Given the description of an element on the screen output the (x, y) to click on. 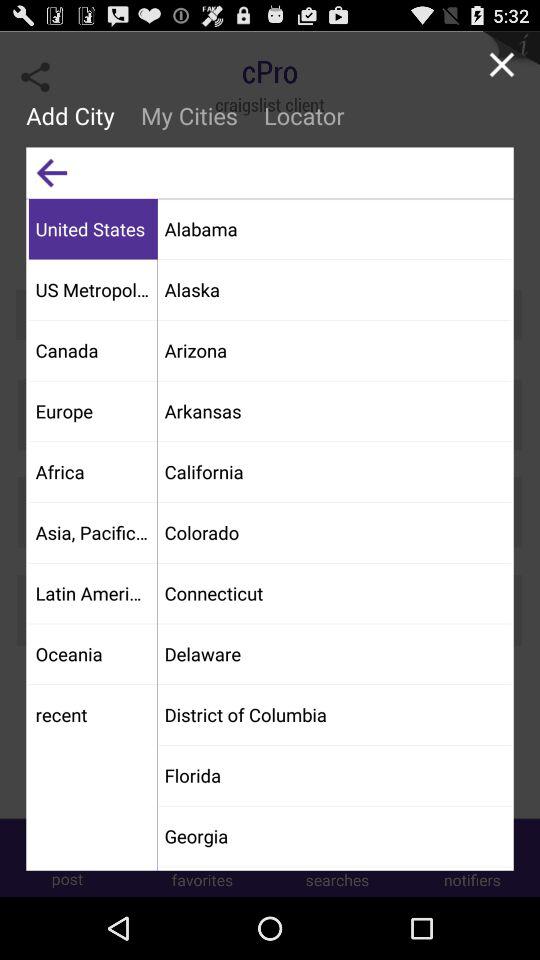
scroll until asia pacific and item (92, 532)
